Given the description of an element on the screen output the (x, y) to click on. 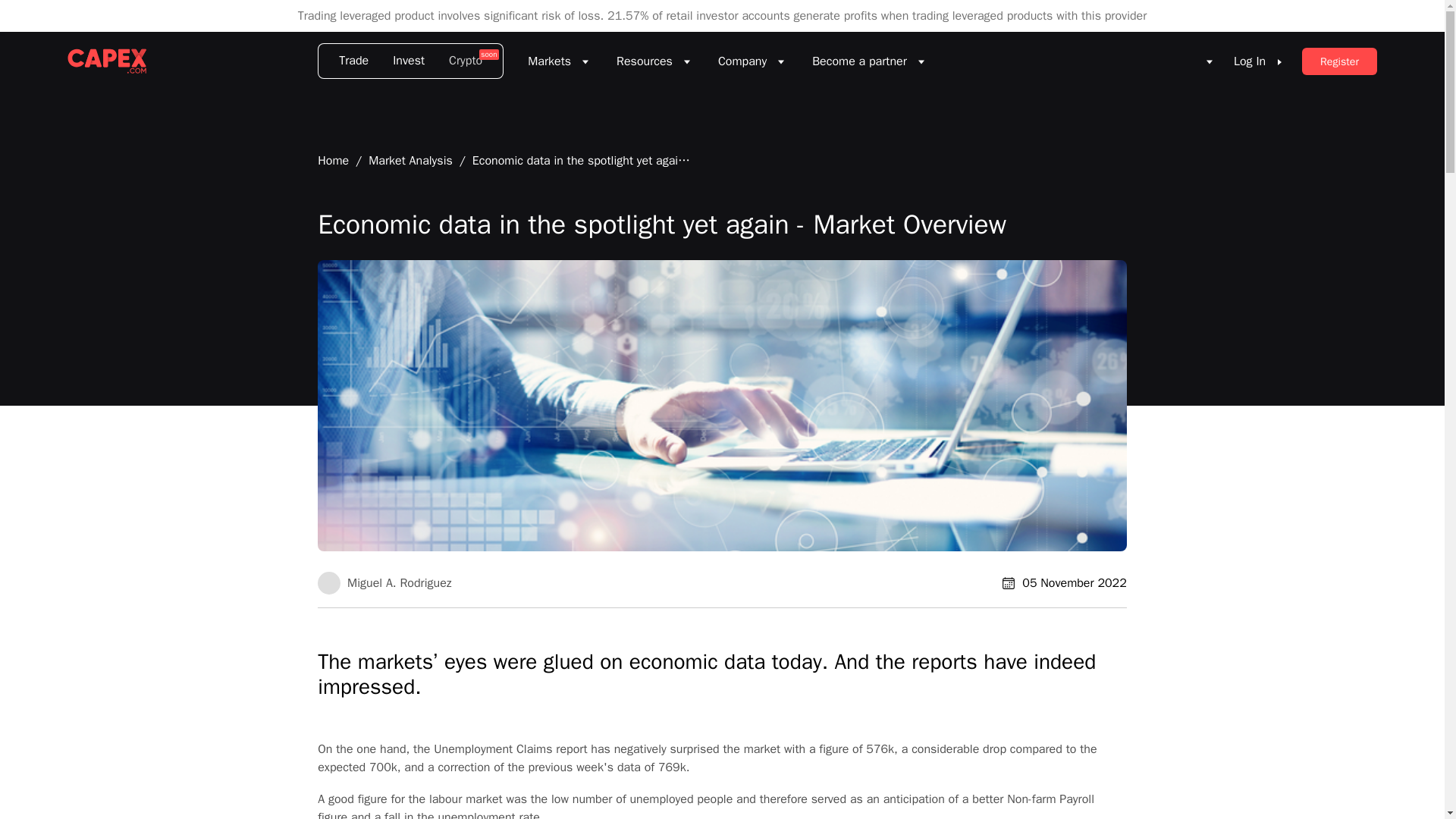
Register (1339, 60)
Invest (408, 60)
Trade (348, 60)
CAPEX.com (106, 60)
Log In (1257, 61)
